Given the description of an element on the screen output the (x, y) to click on. 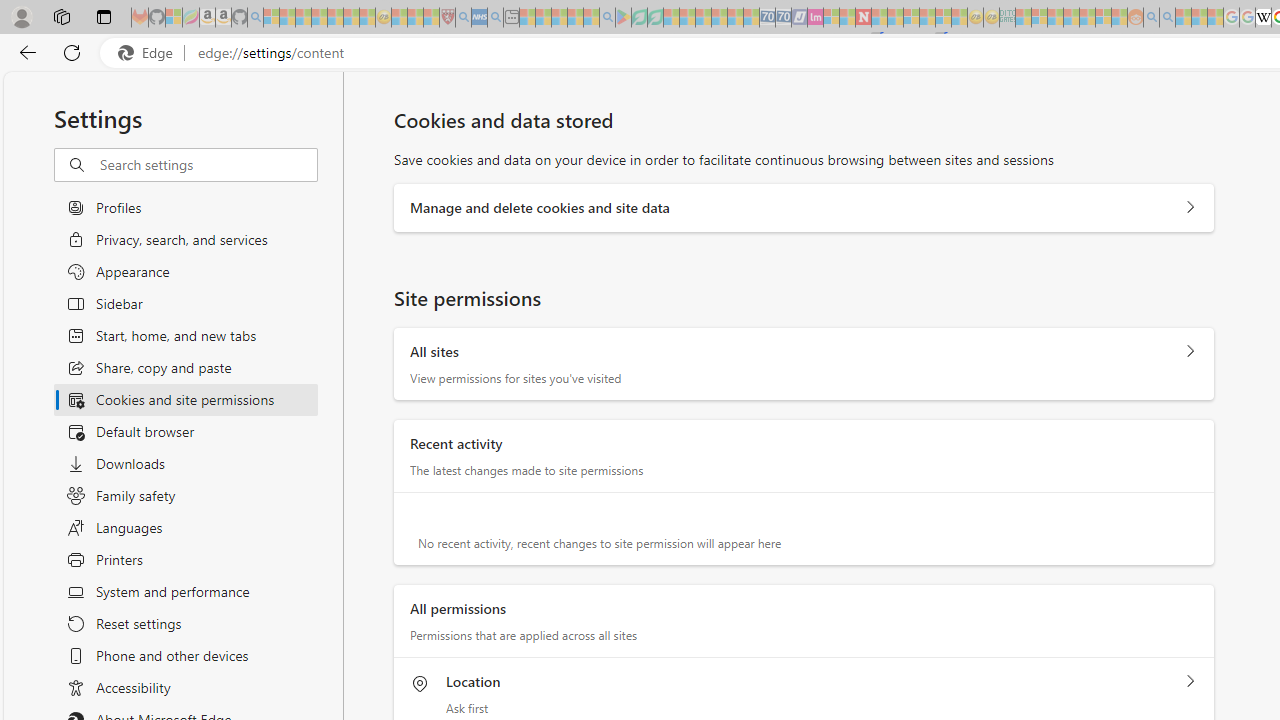
Search settings (207, 165)
New Report Confirms 2023 Was Record Hot | Watch - Sleeping (335, 17)
MSNBC - MSN - Sleeping (1023, 17)
Edge (150, 53)
Manage and delete cookies and site data (1190, 208)
Local - MSN - Sleeping (431, 17)
